Given the description of an element on the screen output the (x, y) to click on. 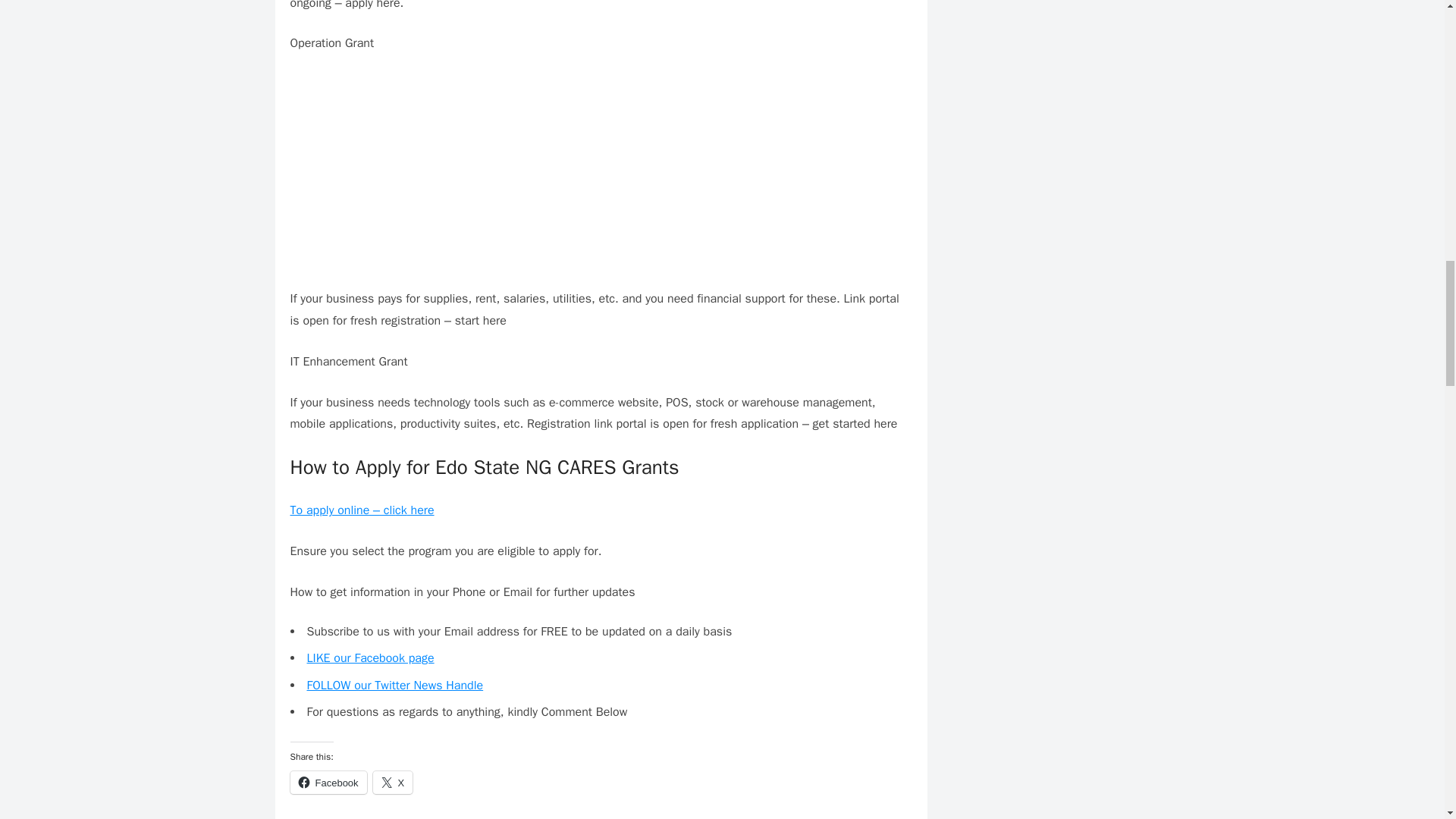
FOLLOW our Twitter News Handle (394, 685)
here (420, 509)
cli (387, 509)
Click to share on Facebook (327, 782)
Facebook (327, 782)
X (392, 782)
LIKE our Facebook page (369, 657)
Click to share on X (392, 782)
